Given the description of an element on the screen output the (x, y) to click on. 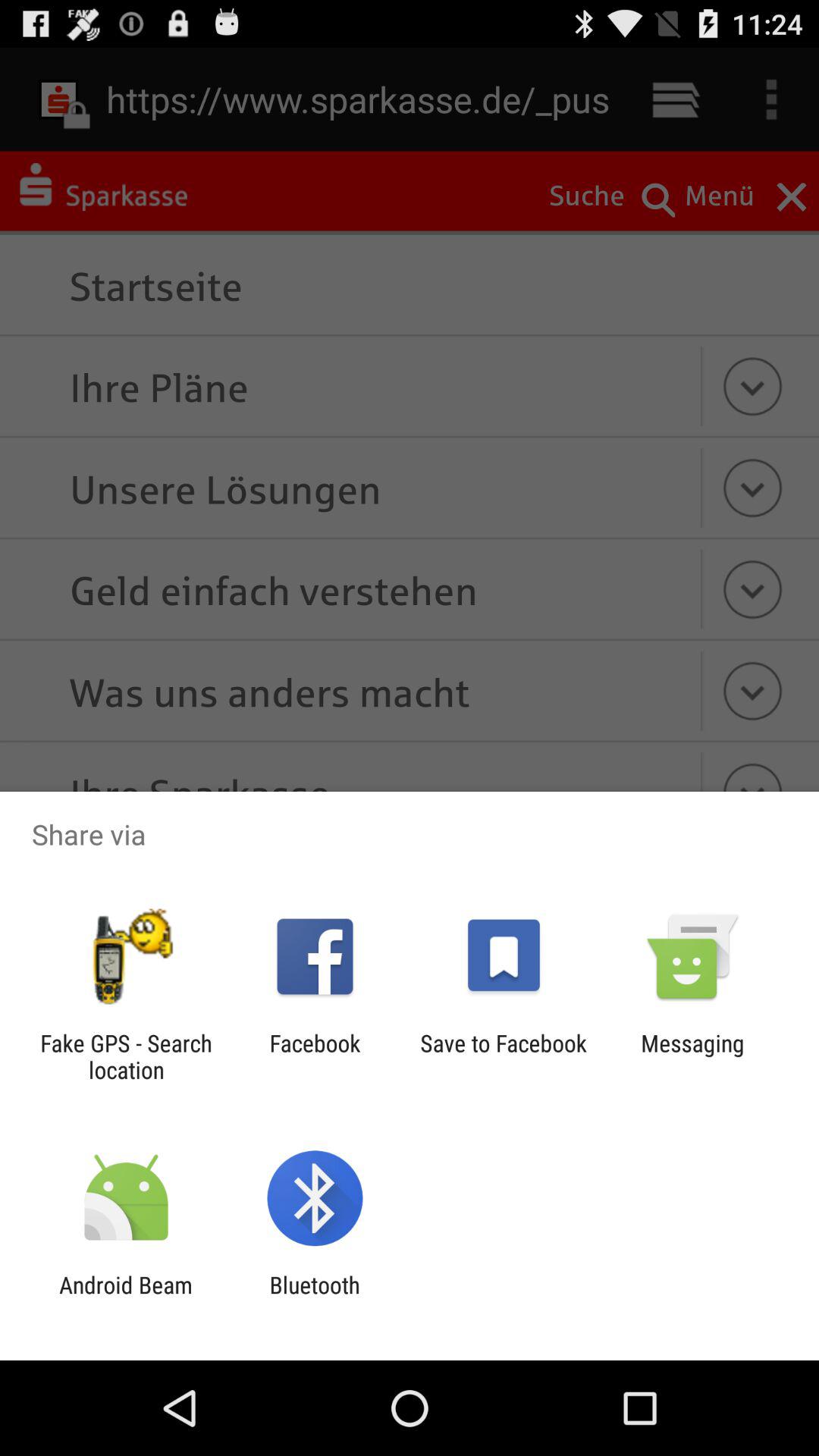
tap the bluetooth (314, 1298)
